Given the description of an element on the screen output the (x, y) to click on. 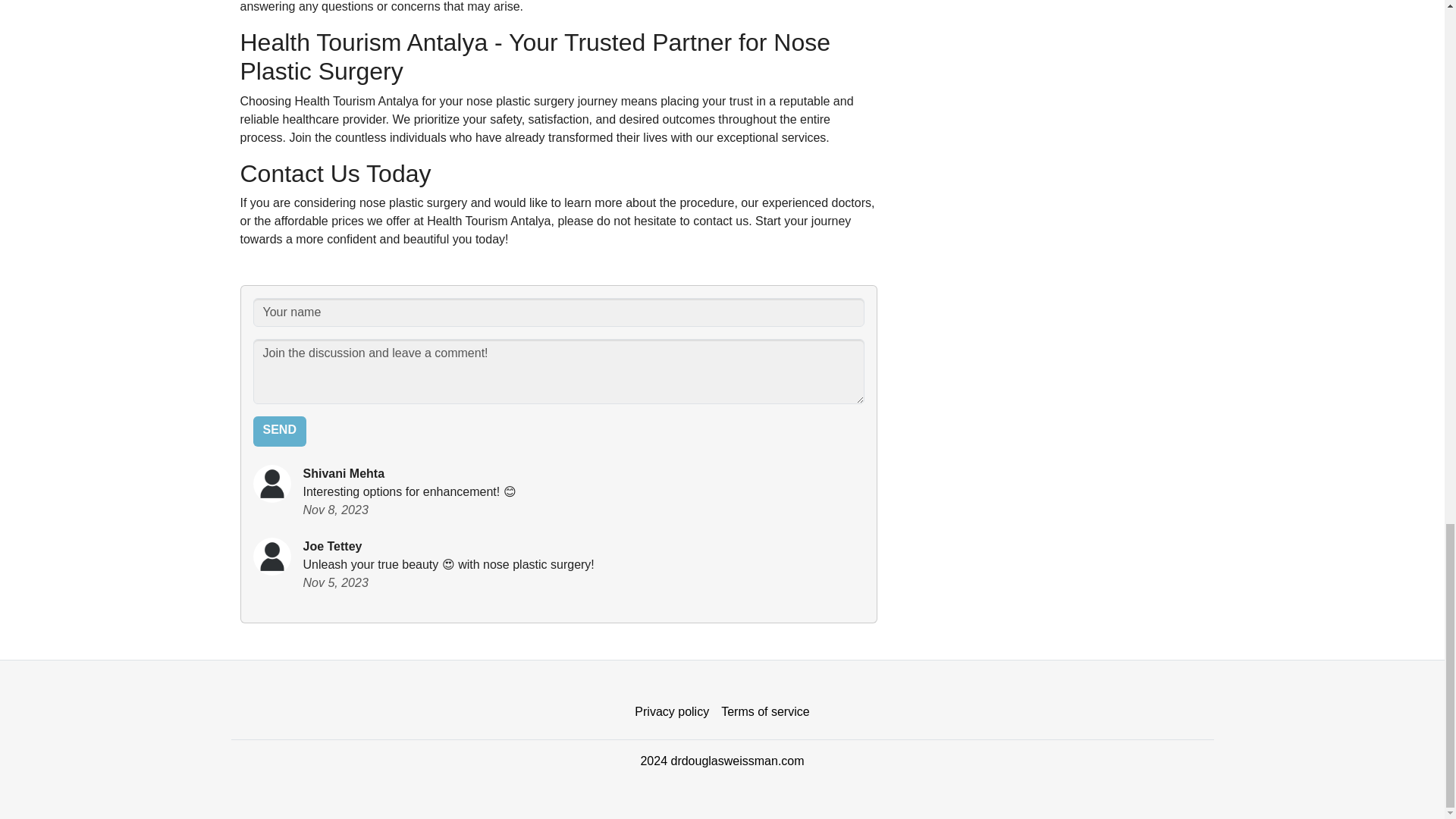
Terms of service (764, 711)
Privacy policy (671, 711)
Send (279, 431)
Send (279, 431)
